Given the description of an element on the screen output the (x, y) to click on. 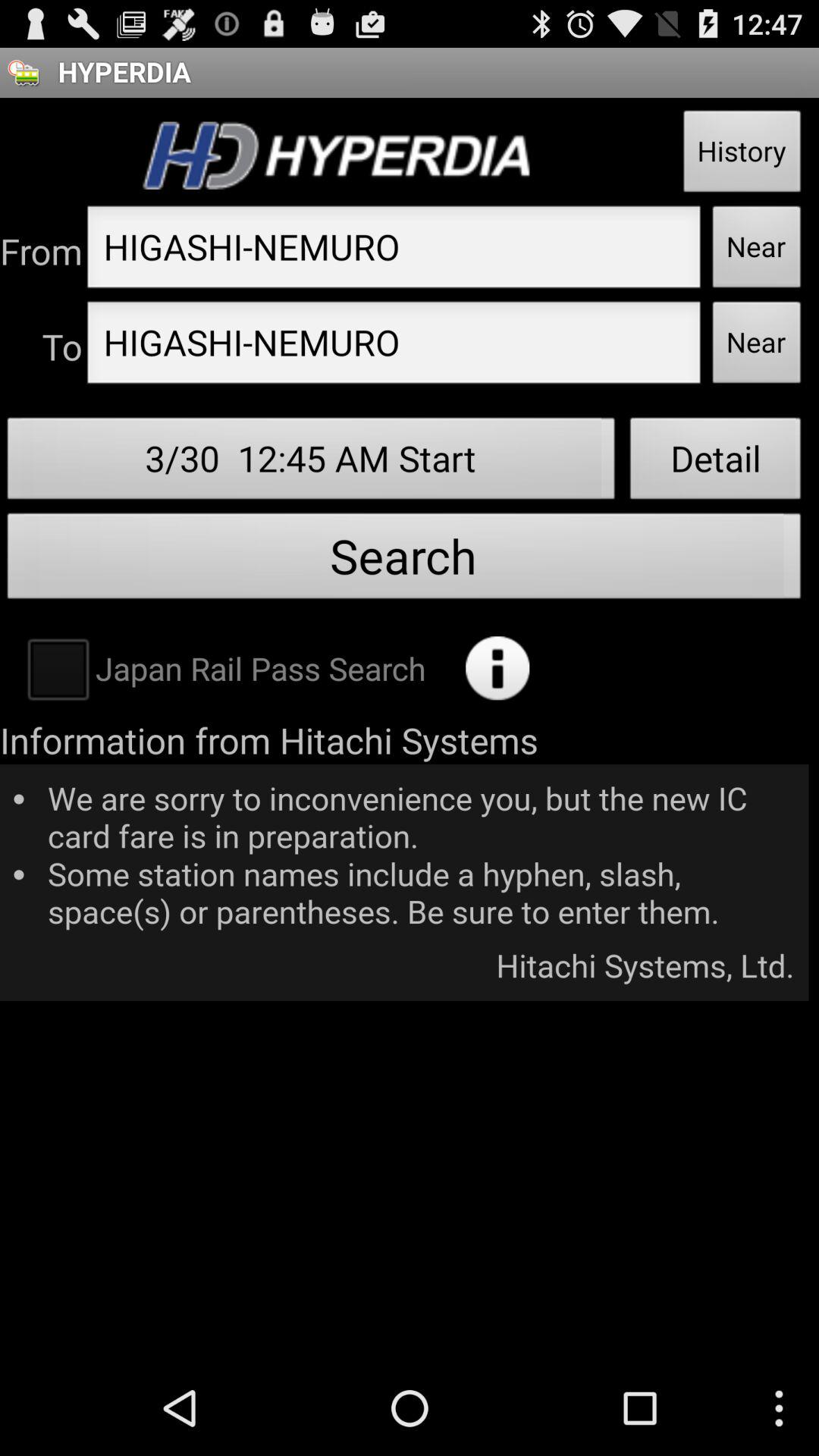
more information (497, 668)
